Given the description of an element on the screen output the (x, y) to click on. 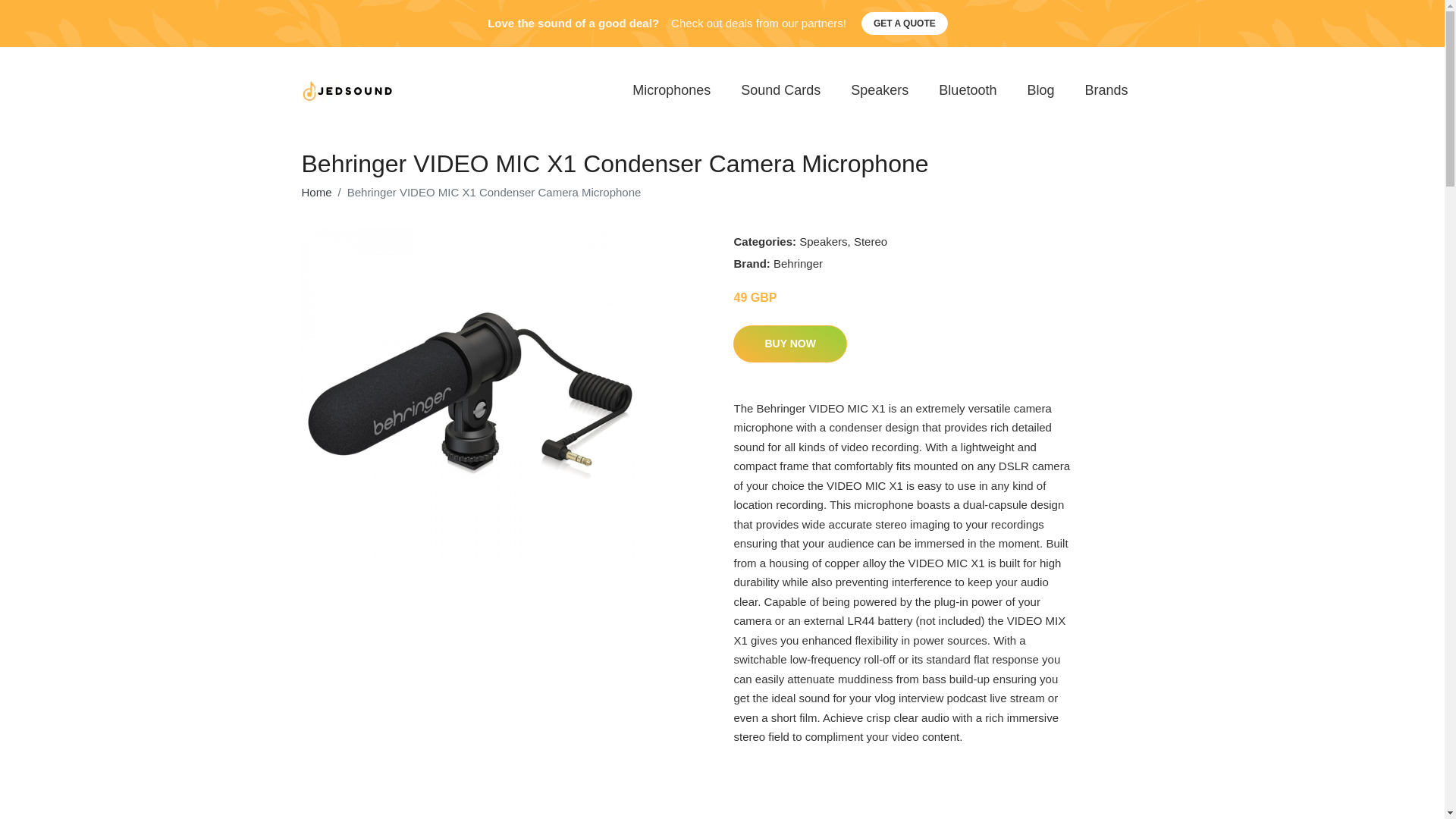
Blog (1039, 90)
Speakers (879, 90)
Speakers (823, 241)
GET A QUOTE (904, 23)
Sound Cards (780, 90)
Brands (1105, 90)
Home (316, 192)
Microphones (671, 90)
BUY NOW (789, 343)
Bluetooth (967, 90)
